Given the description of an element on the screen output the (x, y) to click on. 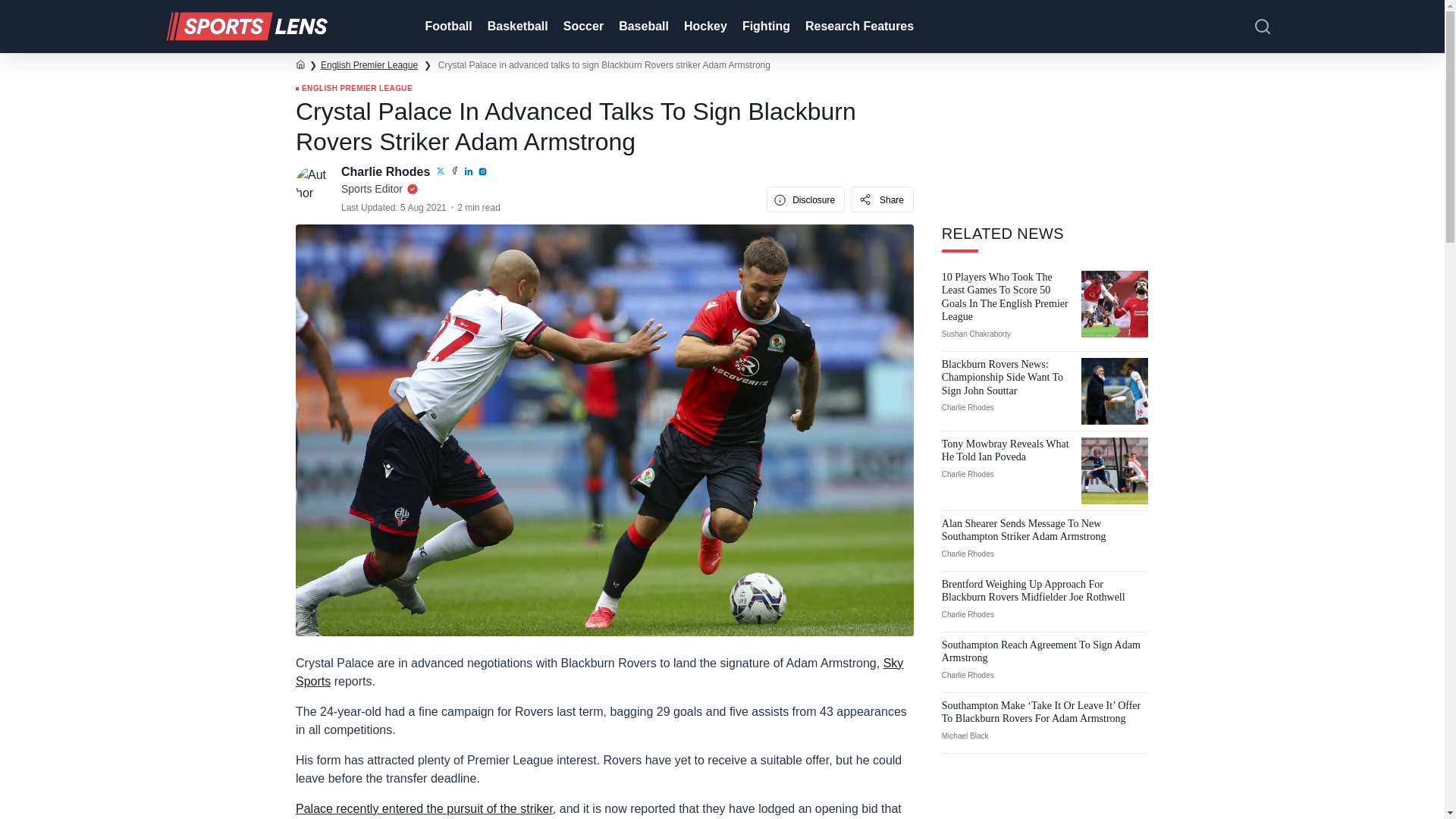
Palace recently entered the pursuit of the striker (424, 808)
Soccer (582, 26)
Football (445, 26)
Charlie Rhodes (386, 171)
Baseball (642, 26)
Hockey (704, 26)
ENGLISH PREMIER LEAGUE (353, 88)
Research Features (858, 26)
Sky Sports (598, 671)
Fighting (764, 26)
Share (882, 199)
Basketball (516, 26)
English Premier League (368, 64)
